Given the description of an element on the screen output the (x, y) to click on. 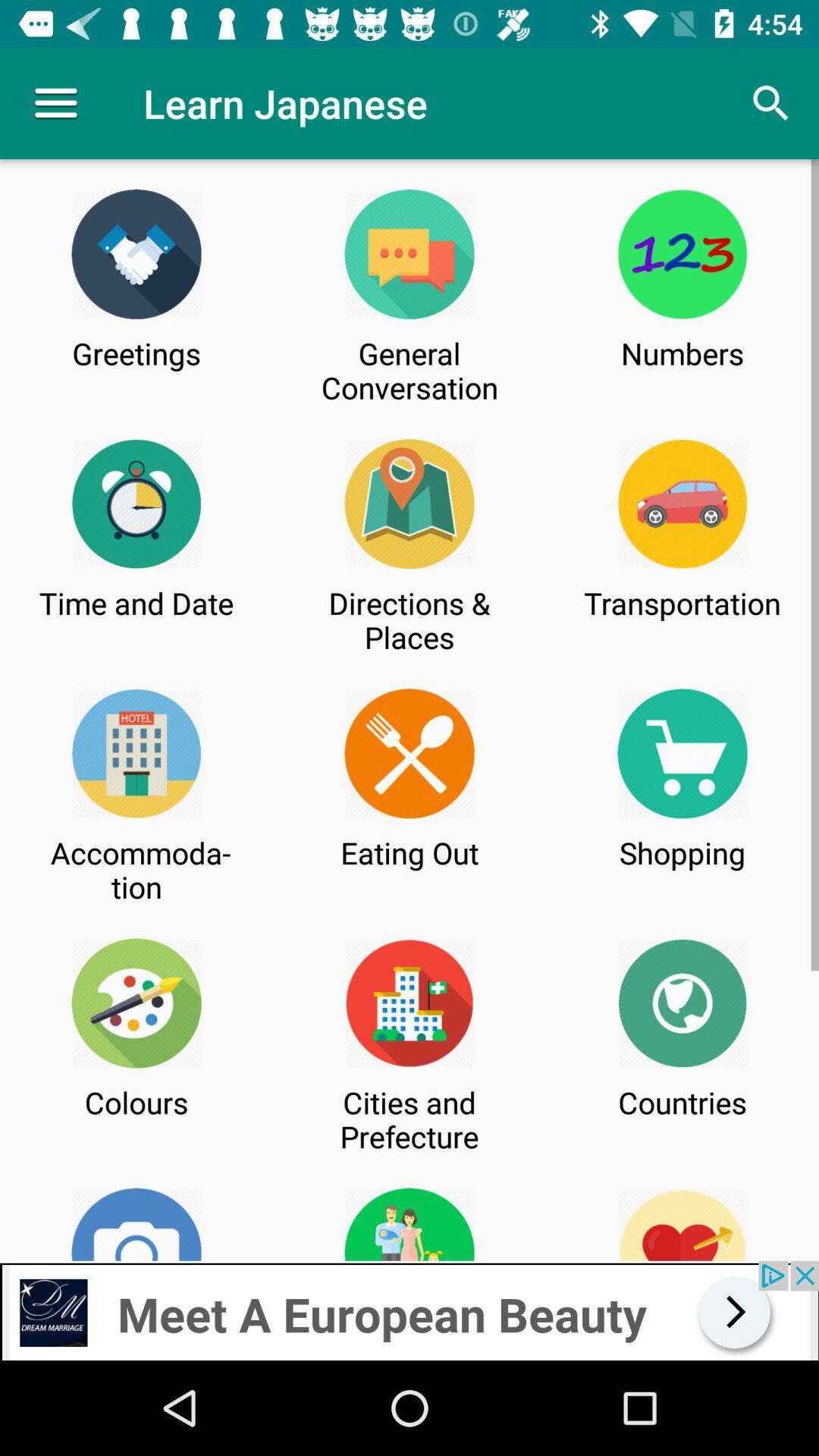
view advertisement (409, 1310)
